Given the description of an element on the screen output the (x, y) to click on. 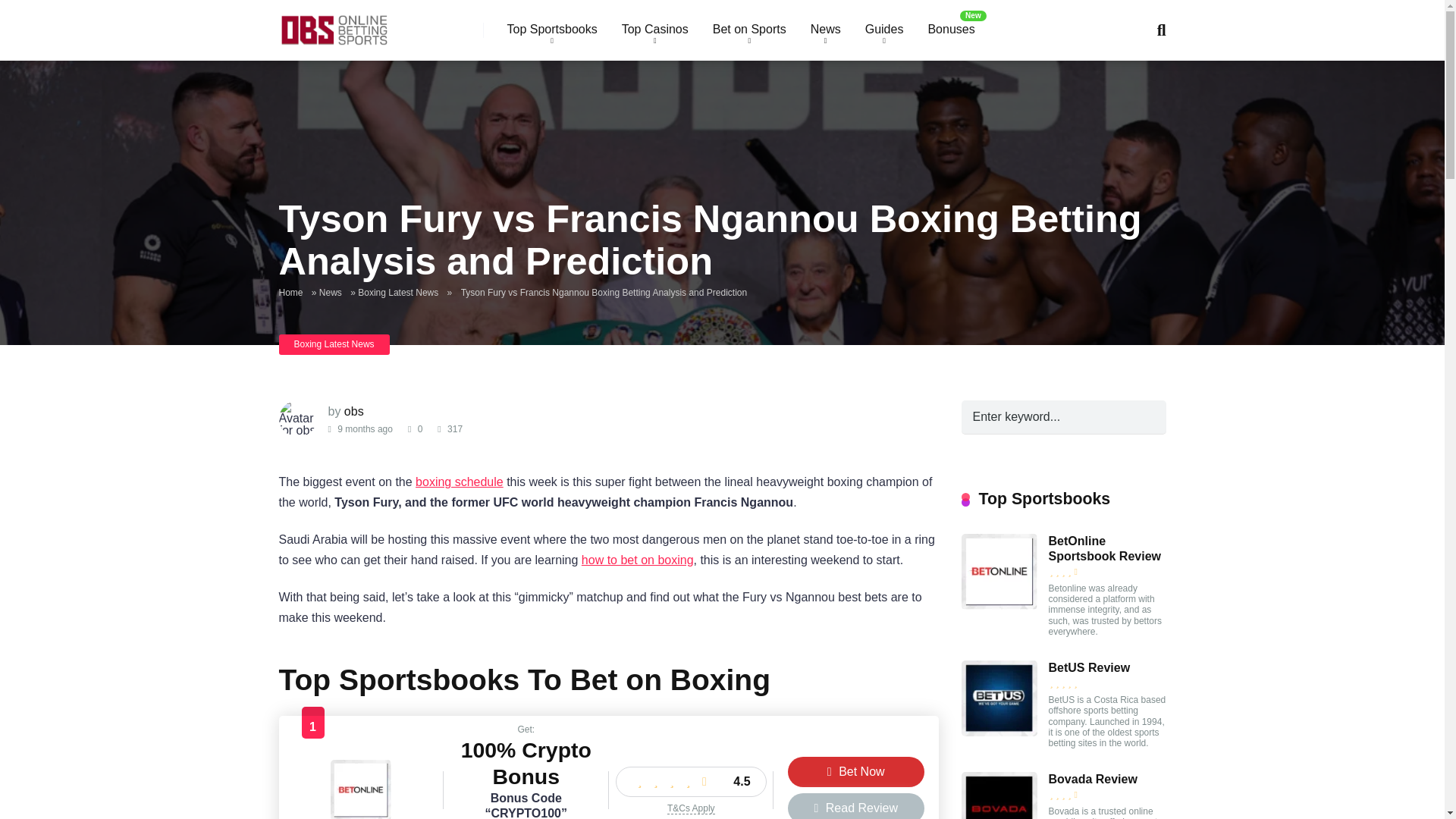
Read Review (855, 806)
BetOnline Sportsbook Review (360, 814)
Top Sportsbooks (551, 30)
Gravatar for obs (298, 418)
Bet Now (855, 771)
Bet on Sports (748, 30)
BetOnline Sportsbook Review (998, 604)
Posts by obs (353, 410)
Top Casinos (655, 30)
